Given the description of an element on the screen output the (x, y) to click on. 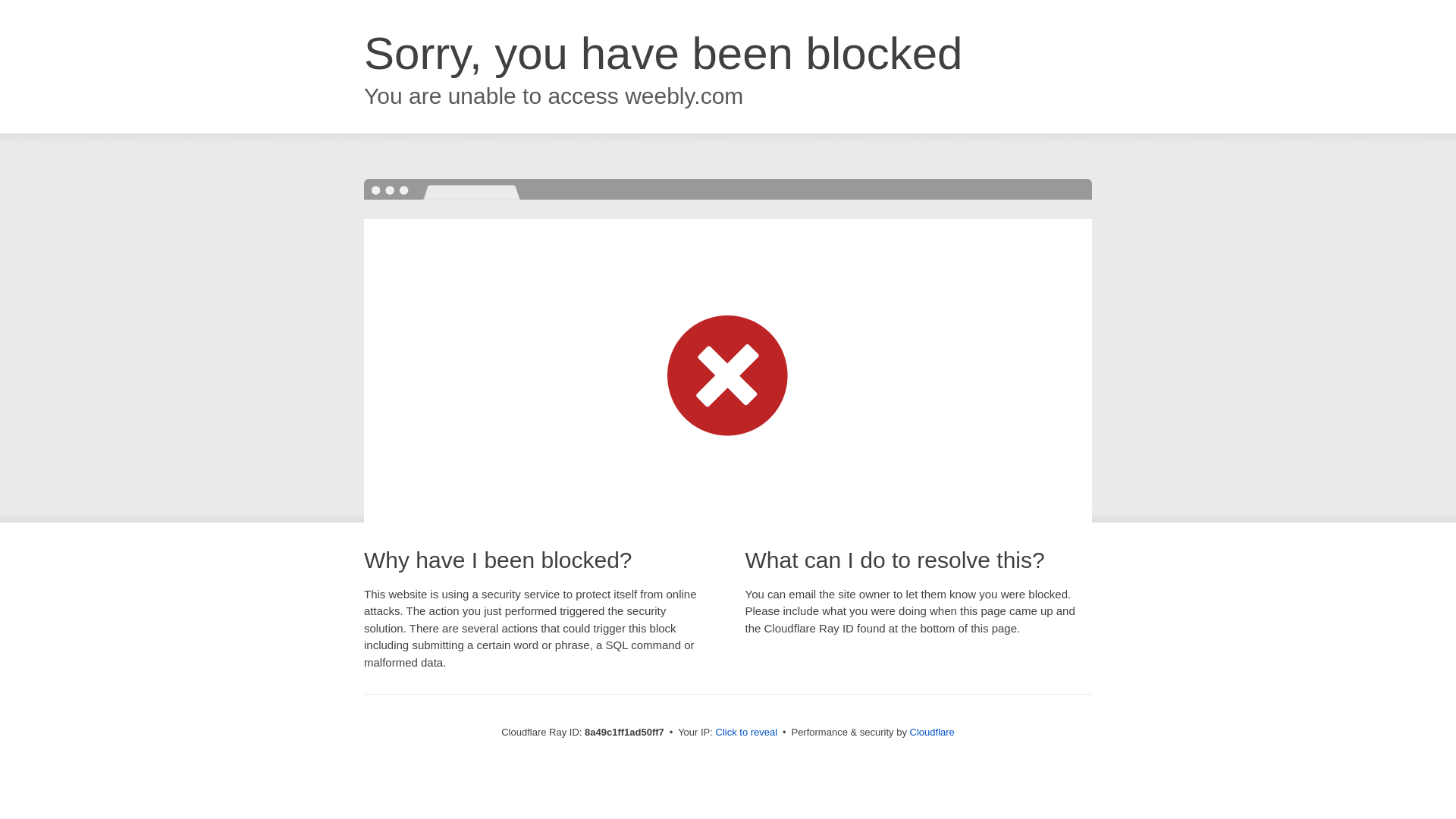
Cloudflare (932, 731)
Click to reveal (746, 732)
